Given the description of an element on the screen output the (x, y) to click on. 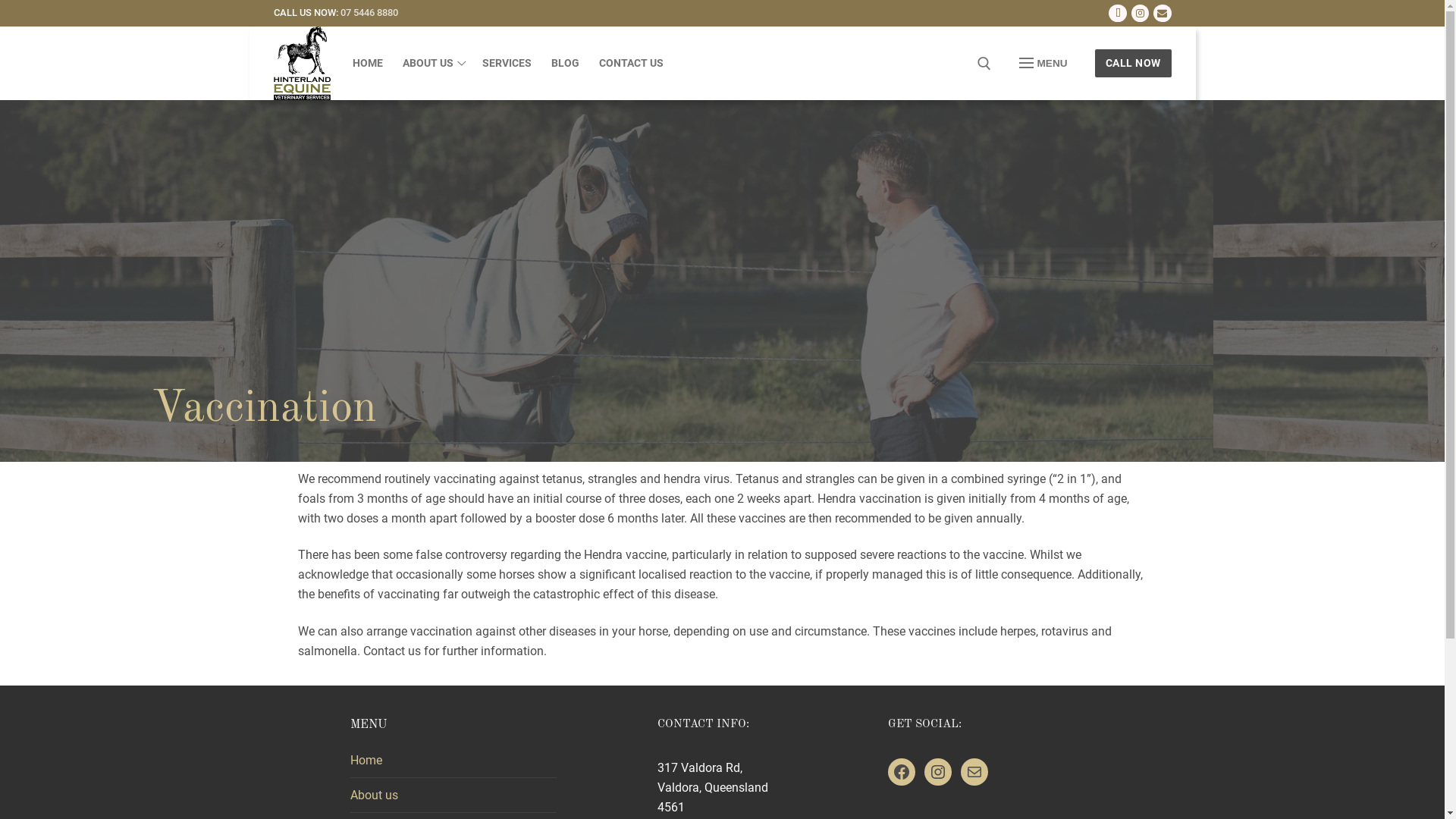
About us Element type: text (453, 798)
Email Element type: hover (1162, 13)
SERVICES Element type: text (505, 63)
Instagram Element type: hover (1140, 13)
BLOG Element type: text (565, 63)
07 5446 8880 Element type: text (368, 12)
CALL NOW Element type: text (1132, 63)
MENU Element type: text (1042, 63)
ABOUT US
  Element type: text (432, 63)
Home Element type: text (453, 764)
HOME Element type: text (367, 63)
CONTACT US Element type: text (630, 63)
Facebook Element type: hover (1118, 13)
